Given the description of an element on the screen output the (x, y) to click on. 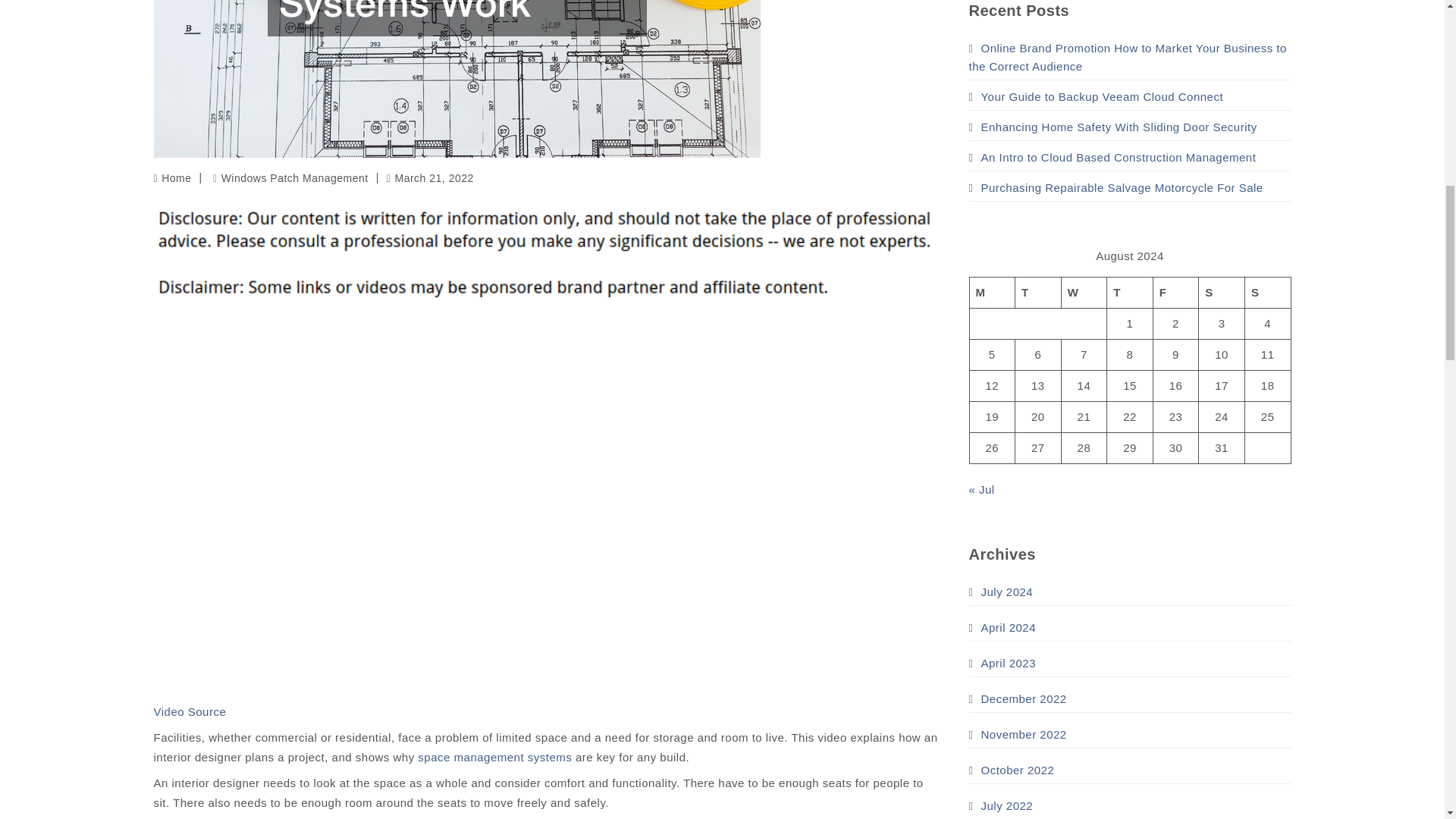
space management systems (494, 757)
November 2022 (1018, 734)
October 2022 (1011, 770)
April 2024 (1002, 628)
Thursday (1129, 291)
March 21, 2022 (430, 178)
Monday (991, 291)
Saturday (1221, 291)
Tuesday (1037, 291)
